Given the description of an element on the screen output the (x, y) to click on. 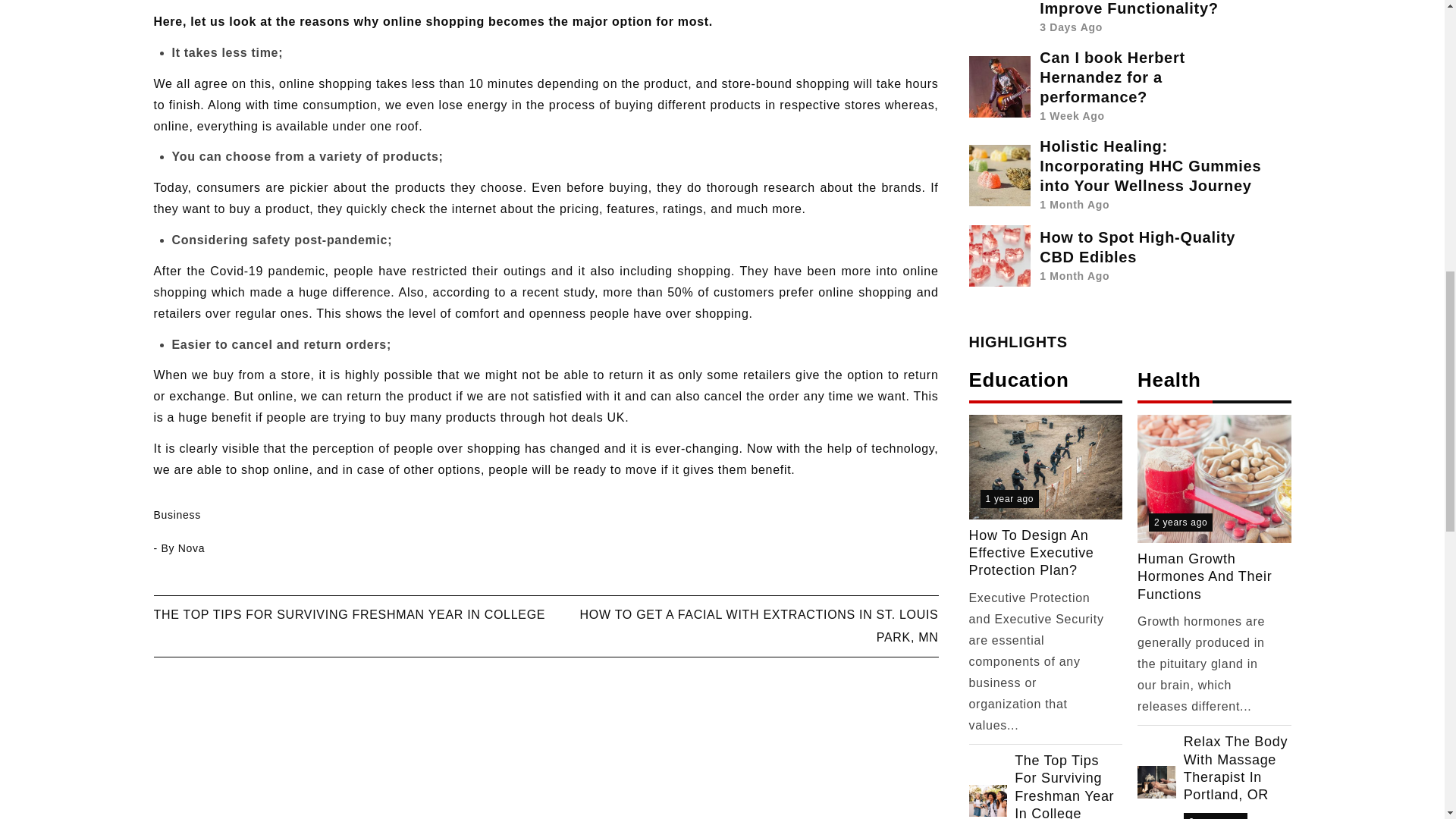
Can I book Herbert Hernandez for a performance? (1112, 77)
How To Design An Effective Executive Protection Plan? (1040, 553)
1 Month Ago (1074, 275)
Nova (191, 548)
1 year ago (1009, 498)
1 Month Ago (1074, 204)
THE TOP TIPS FOR SURVIVING FRESHMAN YEAR IN COLLEGE (348, 614)
How Can Excel AI Tools Improve Functionality? (1131, 8)
How to Spot High-Quality CBD Edibles (1136, 247)
